Given the description of an element on the screen output the (x, y) to click on. 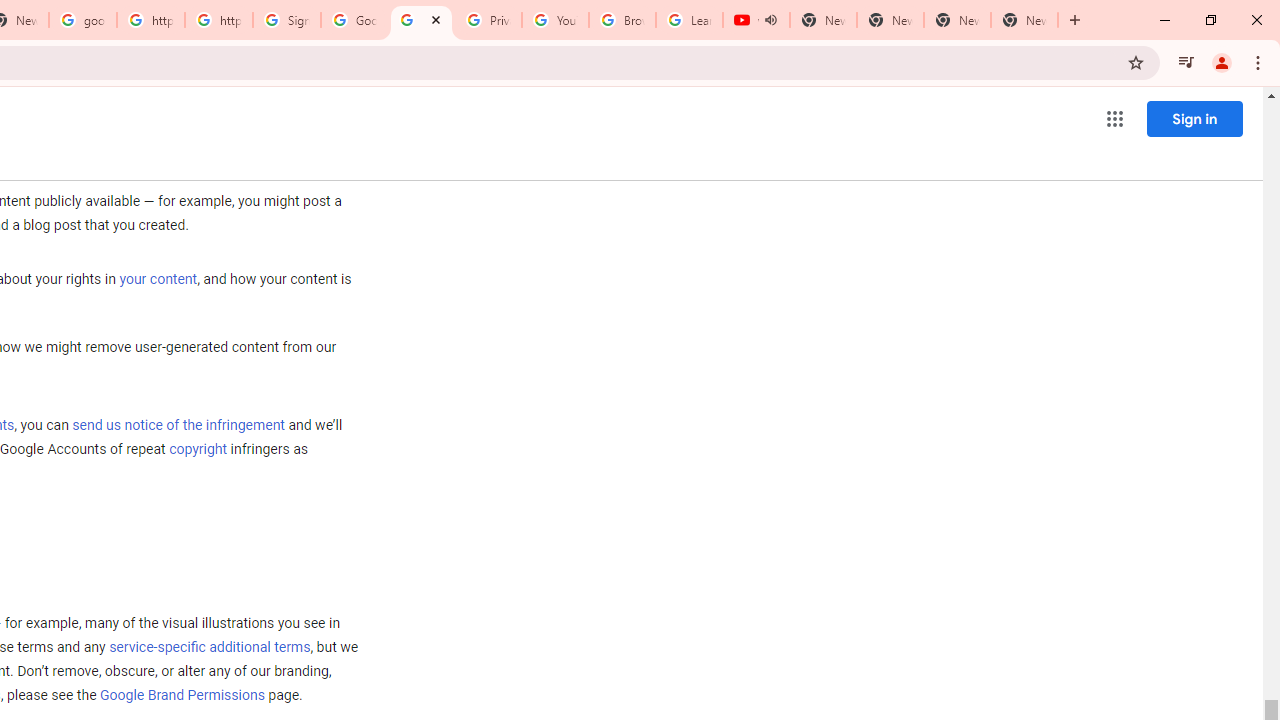
YouTube (555, 20)
New Tab (1024, 20)
https://scholar.google.com/ (219, 20)
Sign in - Google Accounts (287, 20)
copyright (197, 449)
